Given the description of an element on the screen output the (x, y) to click on. 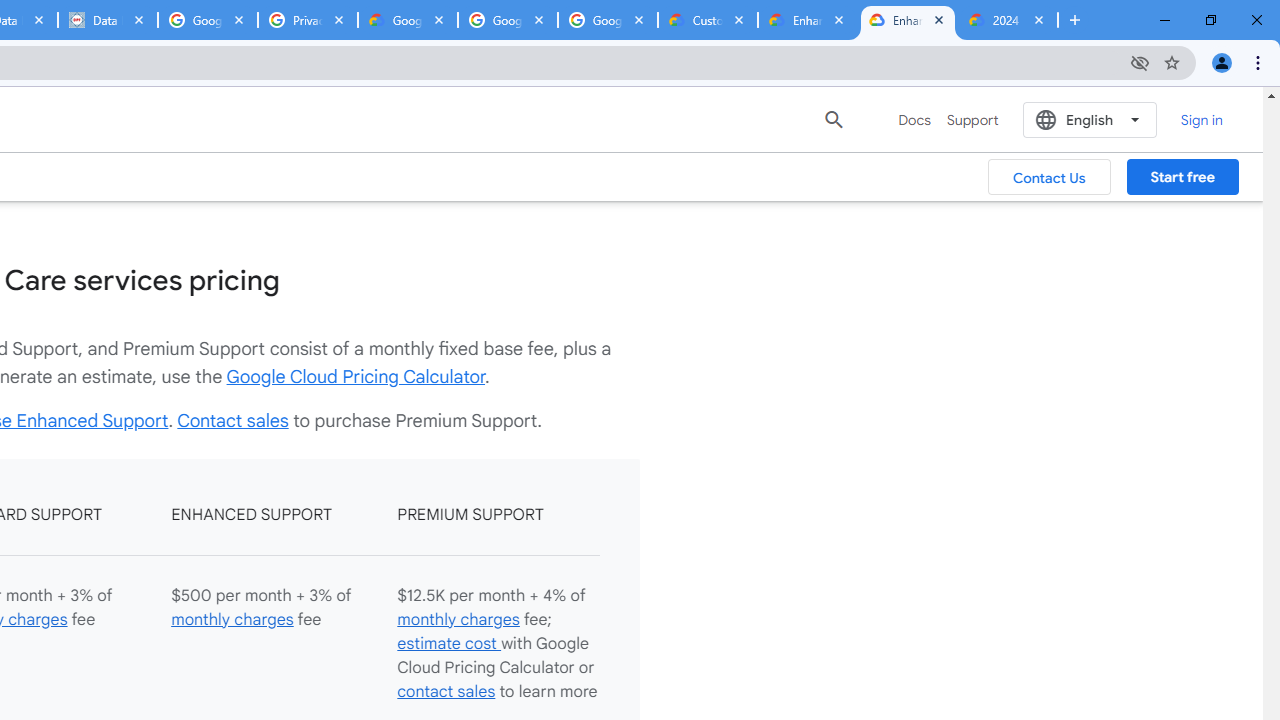
Data Privacy Framework (107, 20)
Docs (914, 119)
estimate cost  (448, 642)
Contact Us (1049, 177)
Start free (1182, 177)
Google Cloud Terms Directory | Google Cloud (408, 20)
